Given the description of an element on the screen output the (x, y) to click on. 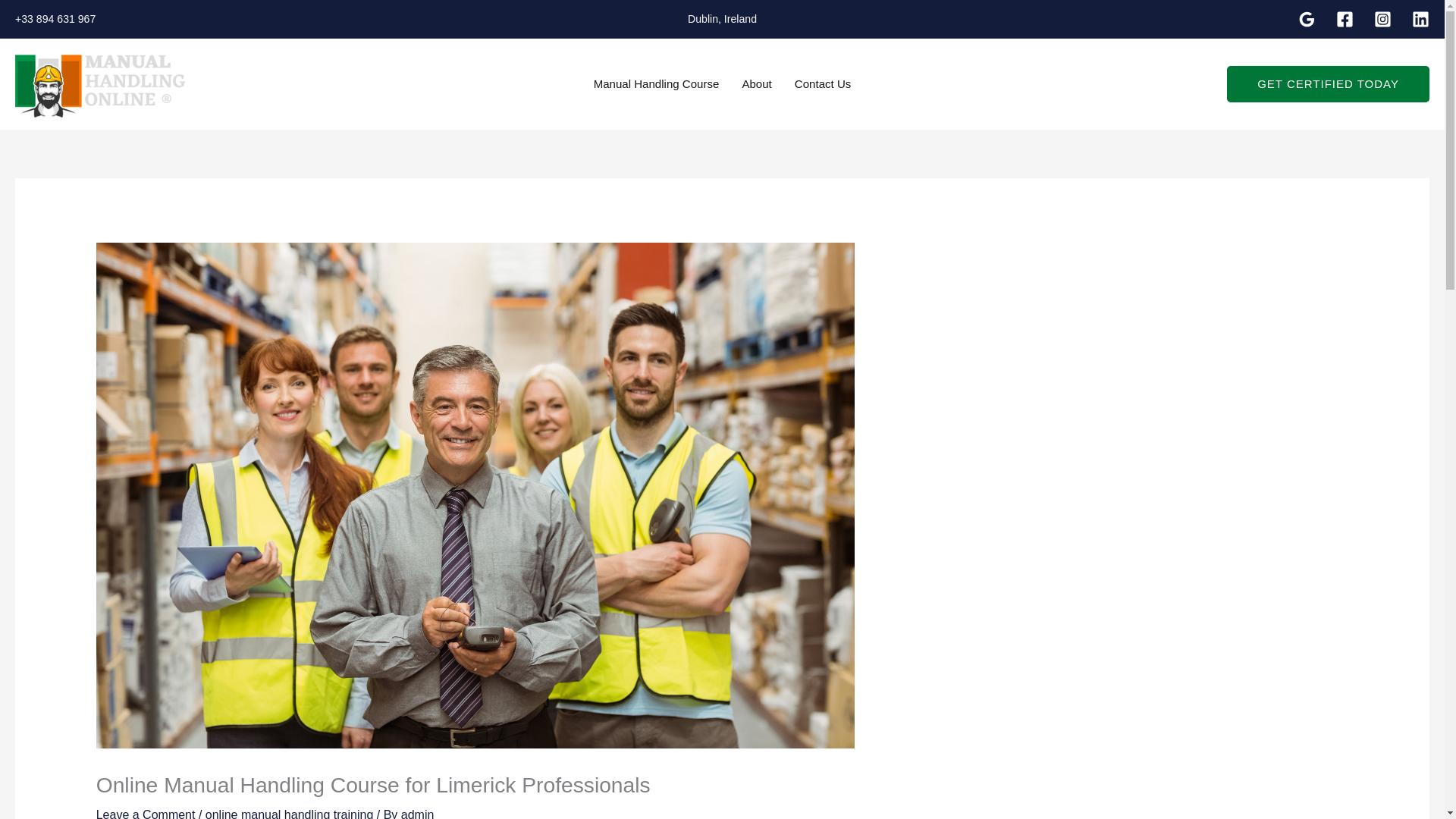
GET CERTIFIED TODAY (1328, 84)
Manual Handling Course (656, 83)
Contact Us (823, 83)
admin (417, 813)
View all posts by admin (417, 813)
Leave a Comment (145, 813)
online manual handling training (289, 813)
About (756, 83)
